Given the description of an element on the screen output the (x, y) to click on. 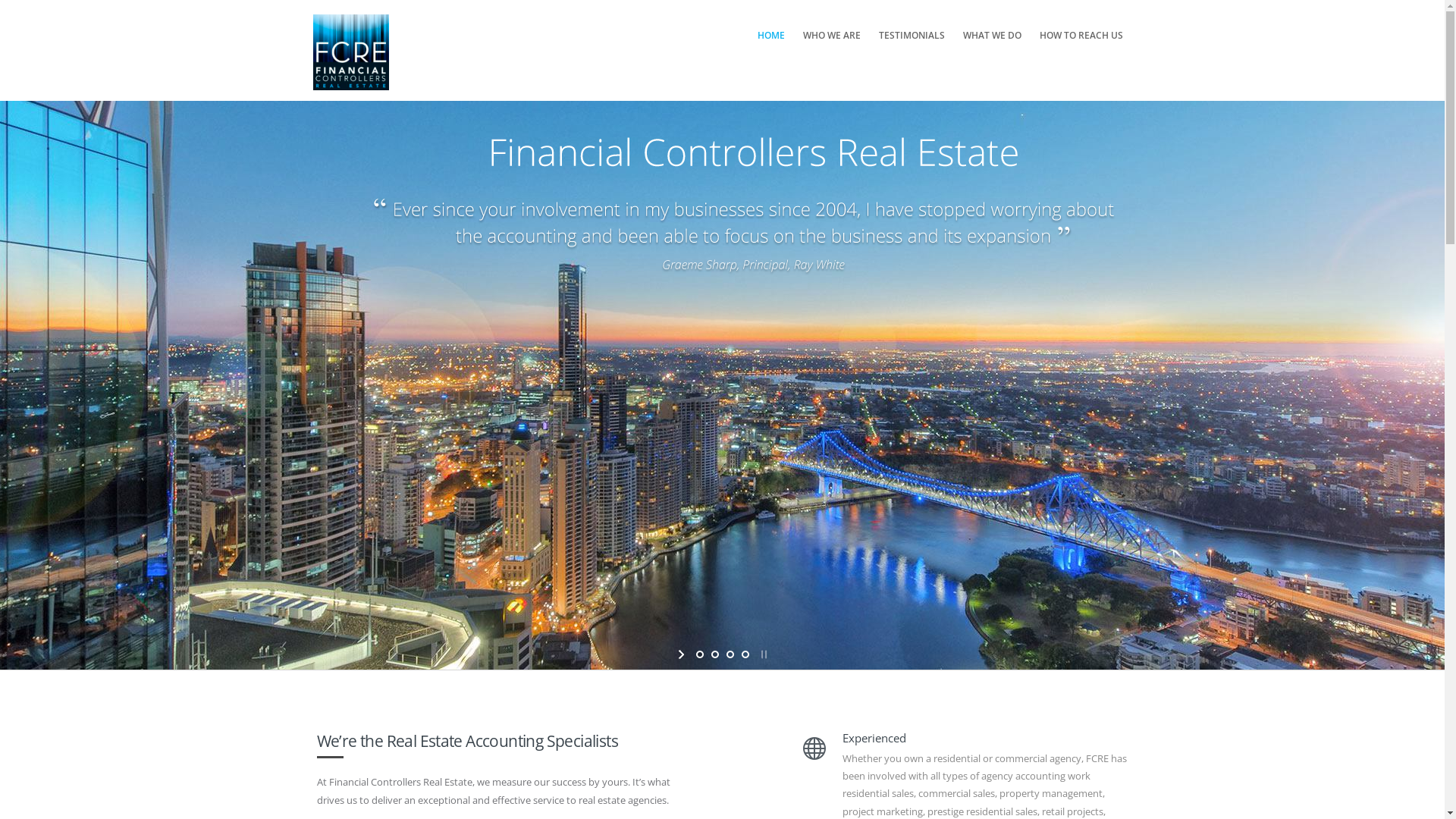
HOW TO REACH US Element type: text (1080, 35)
WHO WE ARE Element type: text (830, 35)
TESTIMONIALS Element type: text (911, 35)
WHAT WE DO Element type: text (992, 35)
HOME Element type: text (770, 35)
